Given the description of an element on the screen output the (x, y) to click on. 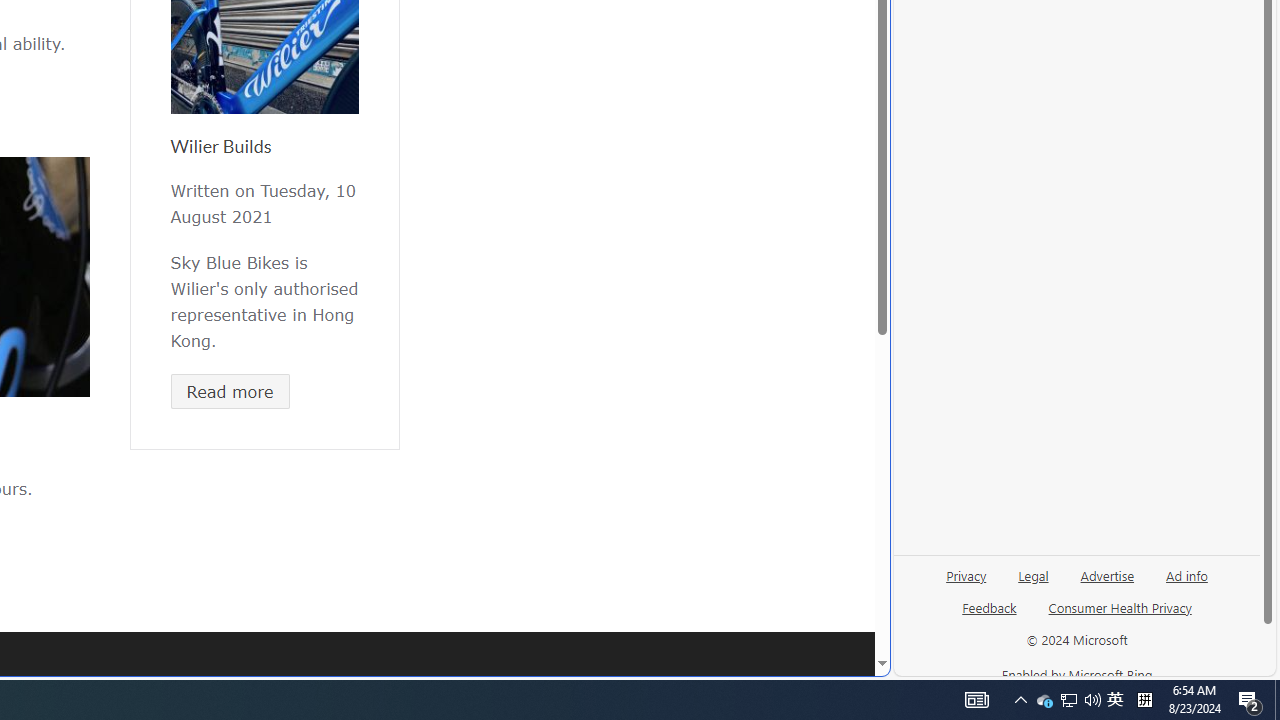
Read more (230, 391)
